Given the description of an element on the screen output the (x, y) to click on. 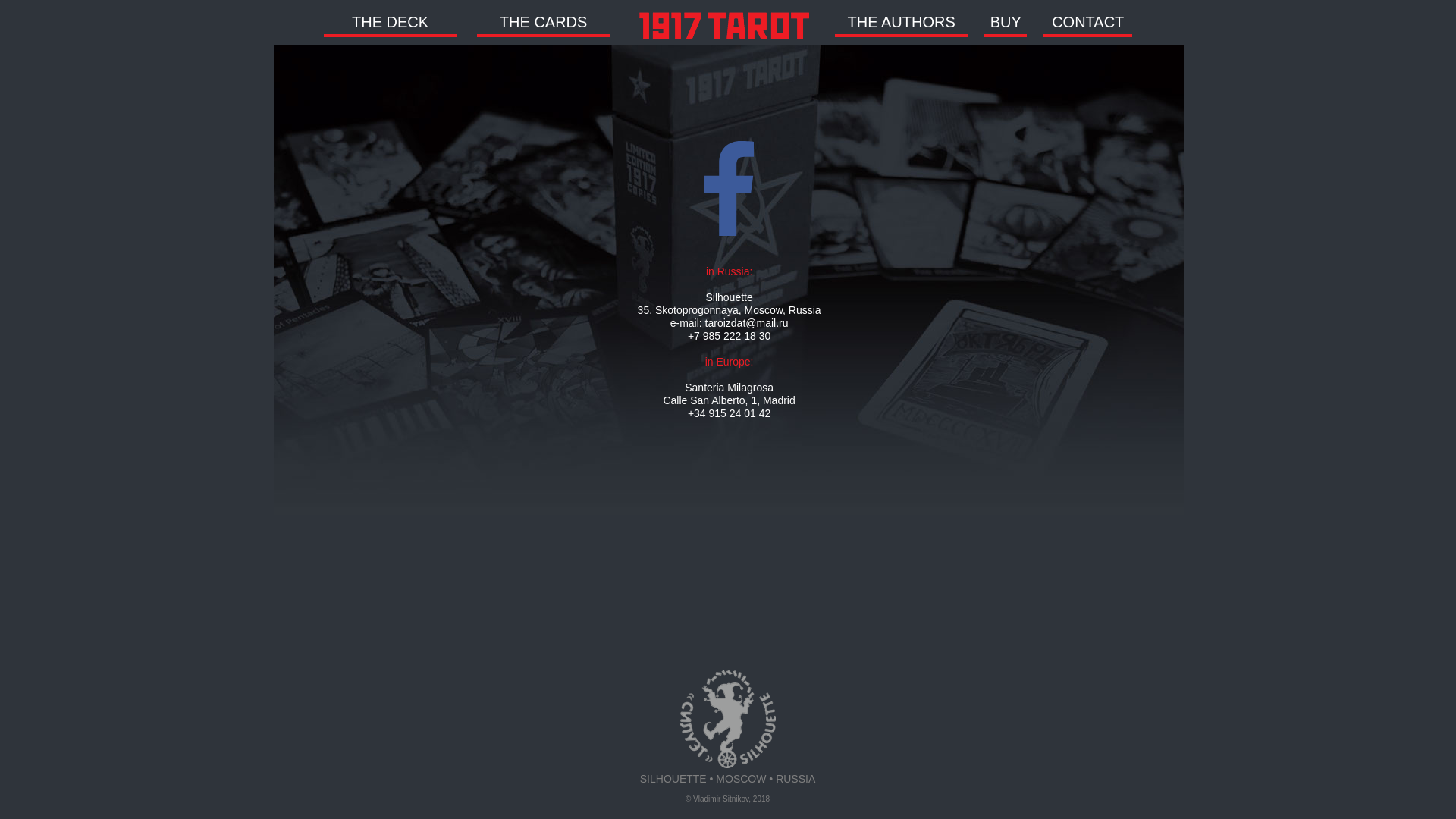
THE AUTHORS Element type: text (900, 23)
BUY Element type: text (1005, 23)
THE DECK Element type: text (389, 23)
THE CARDS Element type: text (542, 23)
CONTACT Element type: text (1087, 23)
